Given the description of an element on the screen output the (x, y) to click on. 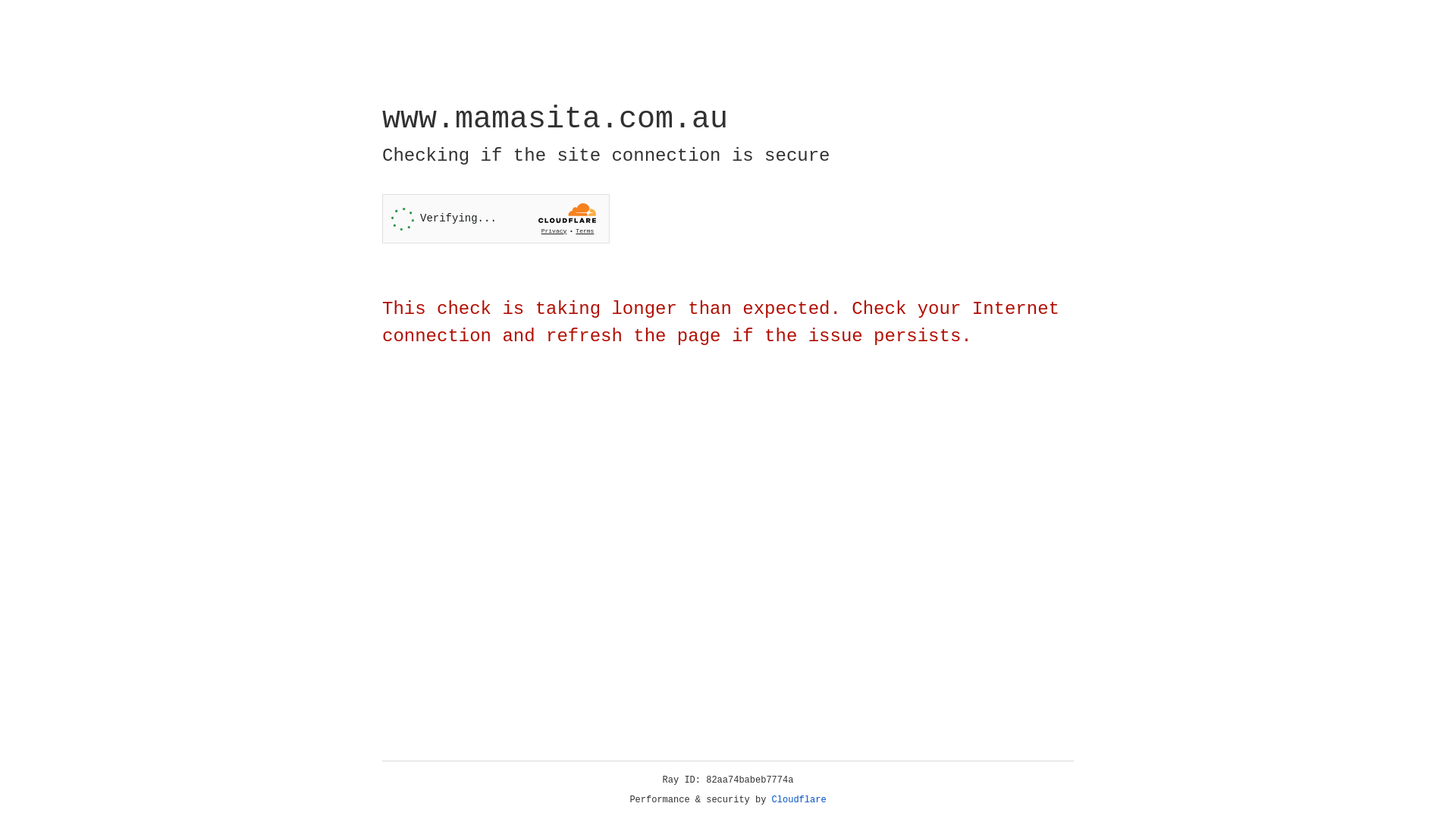
Cloudflare Element type: text (798, 799)
Widget containing a Cloudflare security challenge Element type: hover (495, 218)
